Given the description of an element on the screen output the (x, y) to click on. 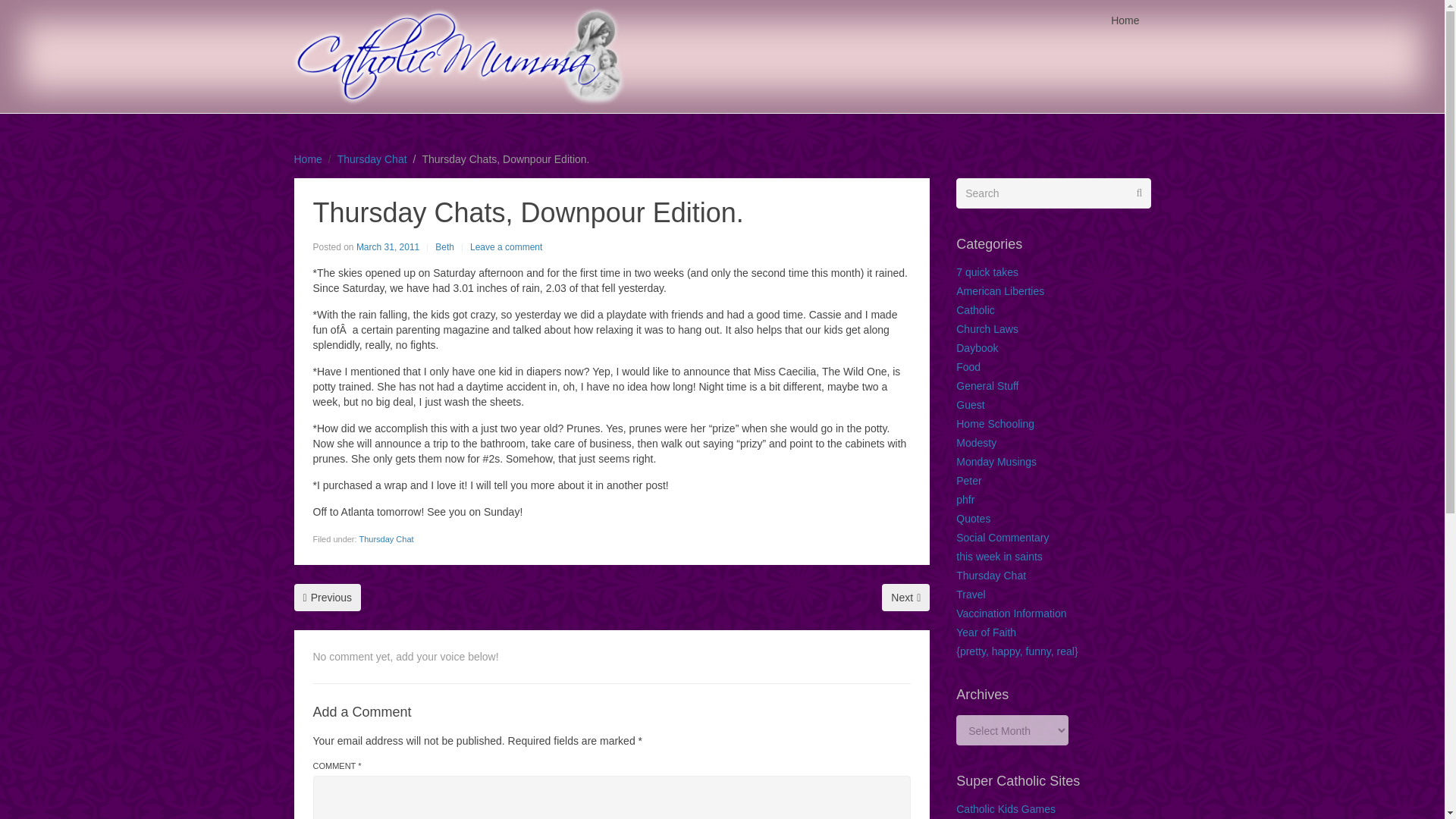
Travel (970, 594)
I Love ... (327, 596)
Year of Faith (986, 632)
Thursday Chat (372, 159)
phfr (965, 499)
Guest (970, 404)
Next (906, 596)
7 quick takes (986, 272)
this week in saints (999, 556)
Catholic (975, 309)
Monday Musings (996, 461)
Previous (327, 596)
Pope John Paul II, of Happy Memory  (906, 596)
Quotes (973, 518)
